Given the description of an element on the screen output the (x, y) to click on. 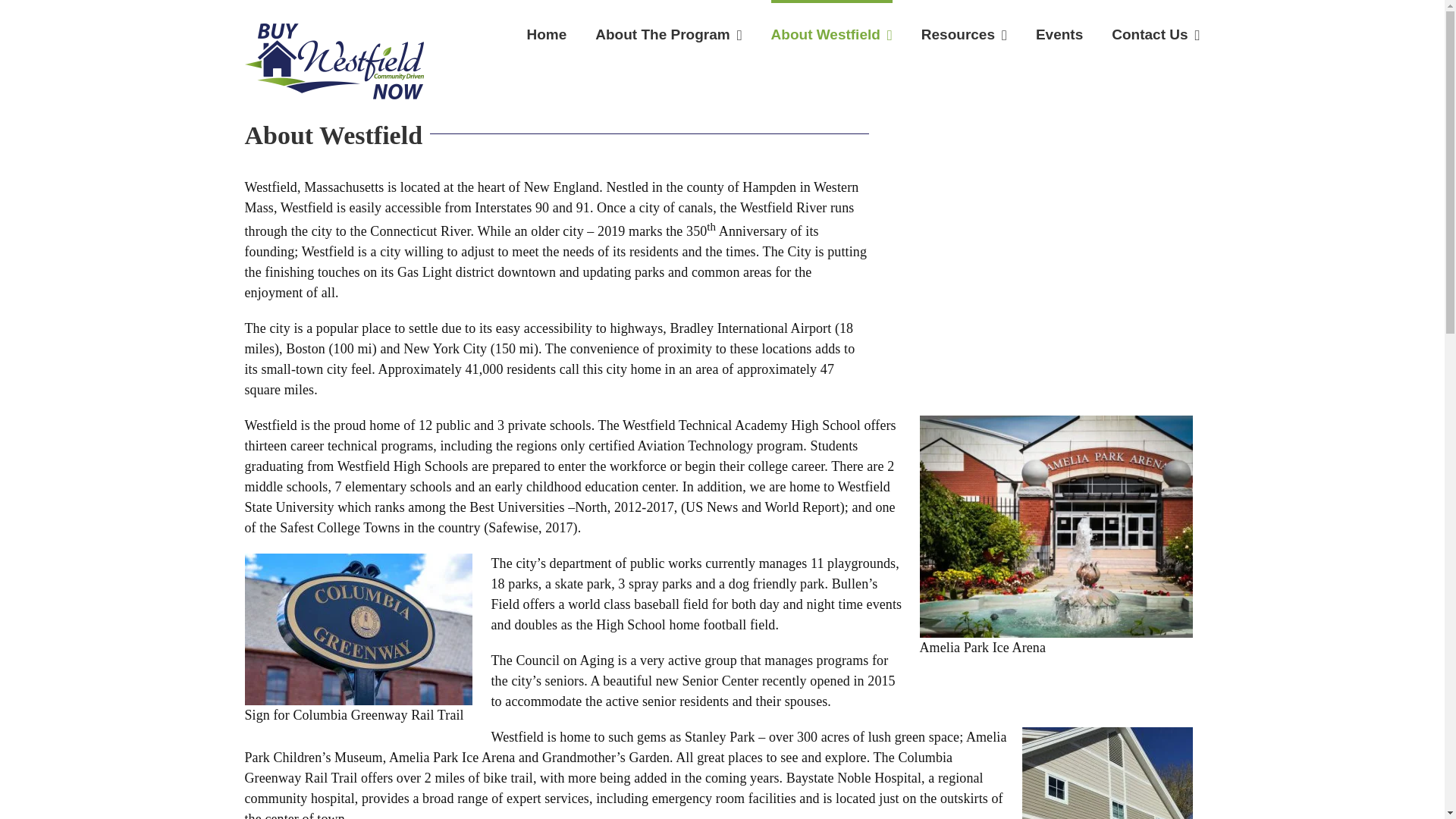
About The Program (668, 33)
About Westfield (831, 33)
Resources (964, 33)
Contact Us (1155, 33)
